Given the description of an element on the screen output the (x, y) to click on. 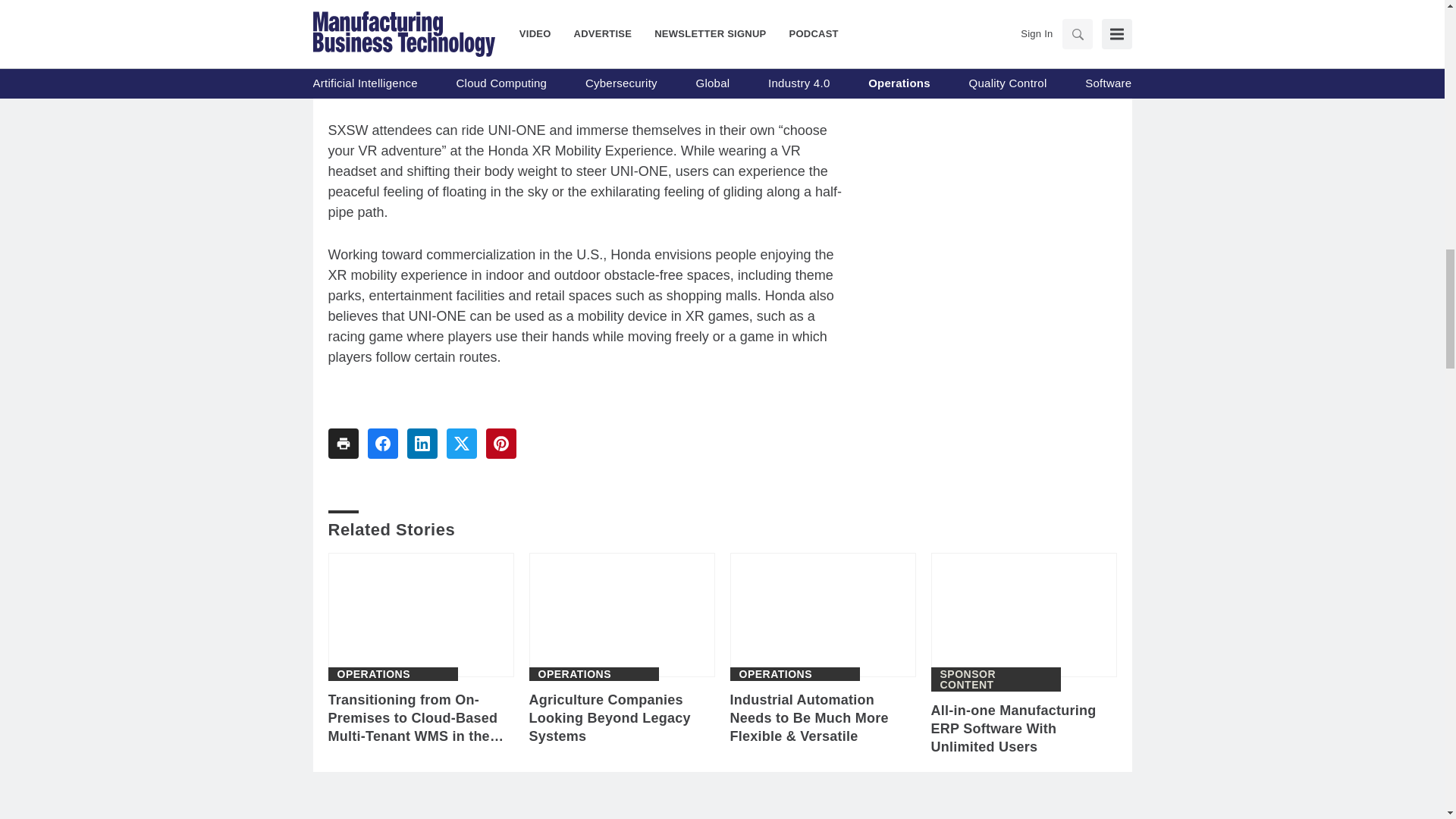
Operations (574, 674)
Share To twitter (460, 443)
Operations (775, 674)
Share To pinterest (499, 443)
Sponsor Content (996, 679)
Share To print (342, 443)
Operations (373, 674)
Share To linkedin (421, 443)
Share To facebook (381, 443)
